Given the description of an element on the screen output the (x, y) to click on. 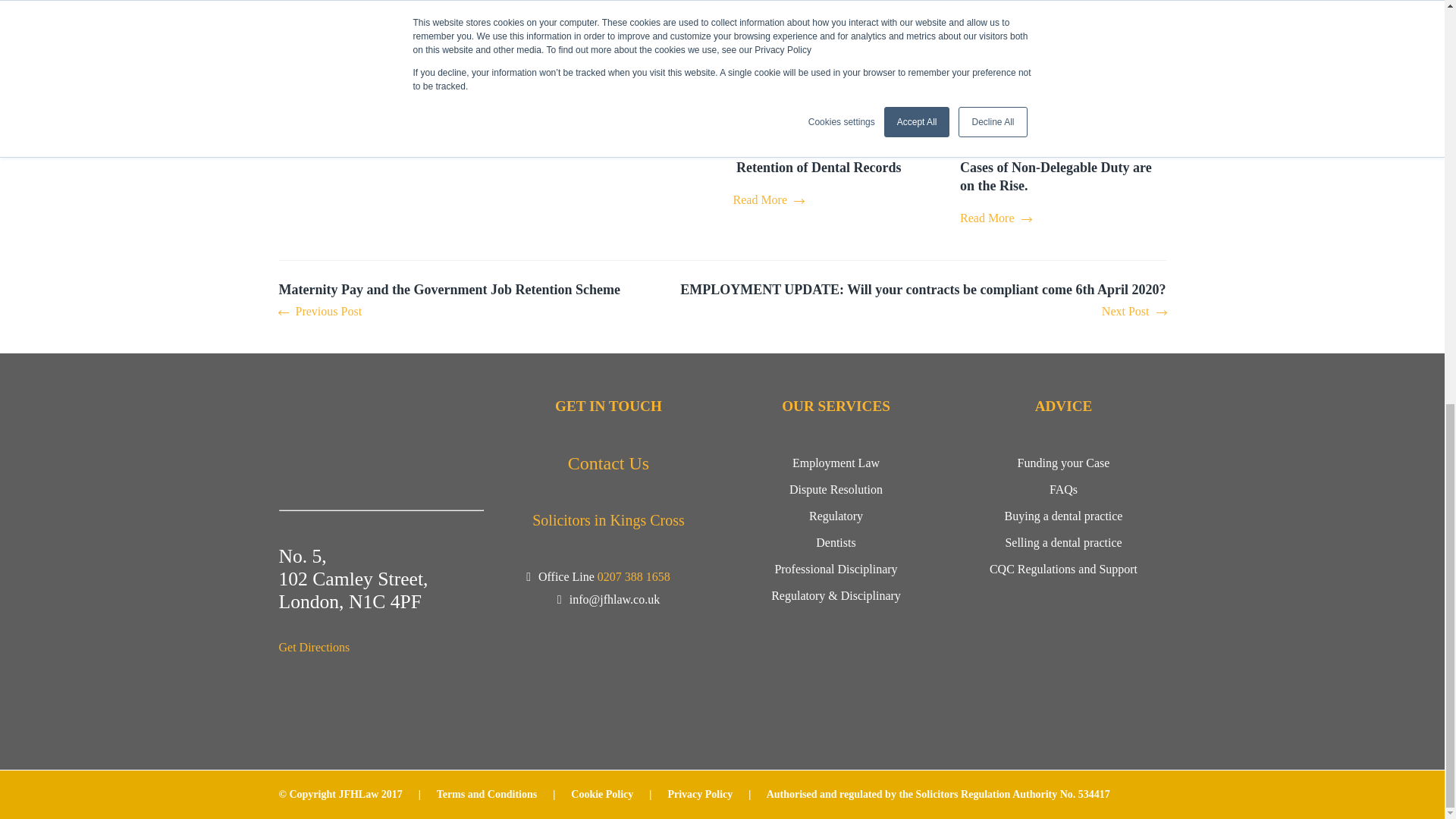
Maternity Pay and the Government Job Retention Scheme (449, 301)
SRA Badge (608, 694)
